Given the description of an element on the screen output the (x, y) to click on. 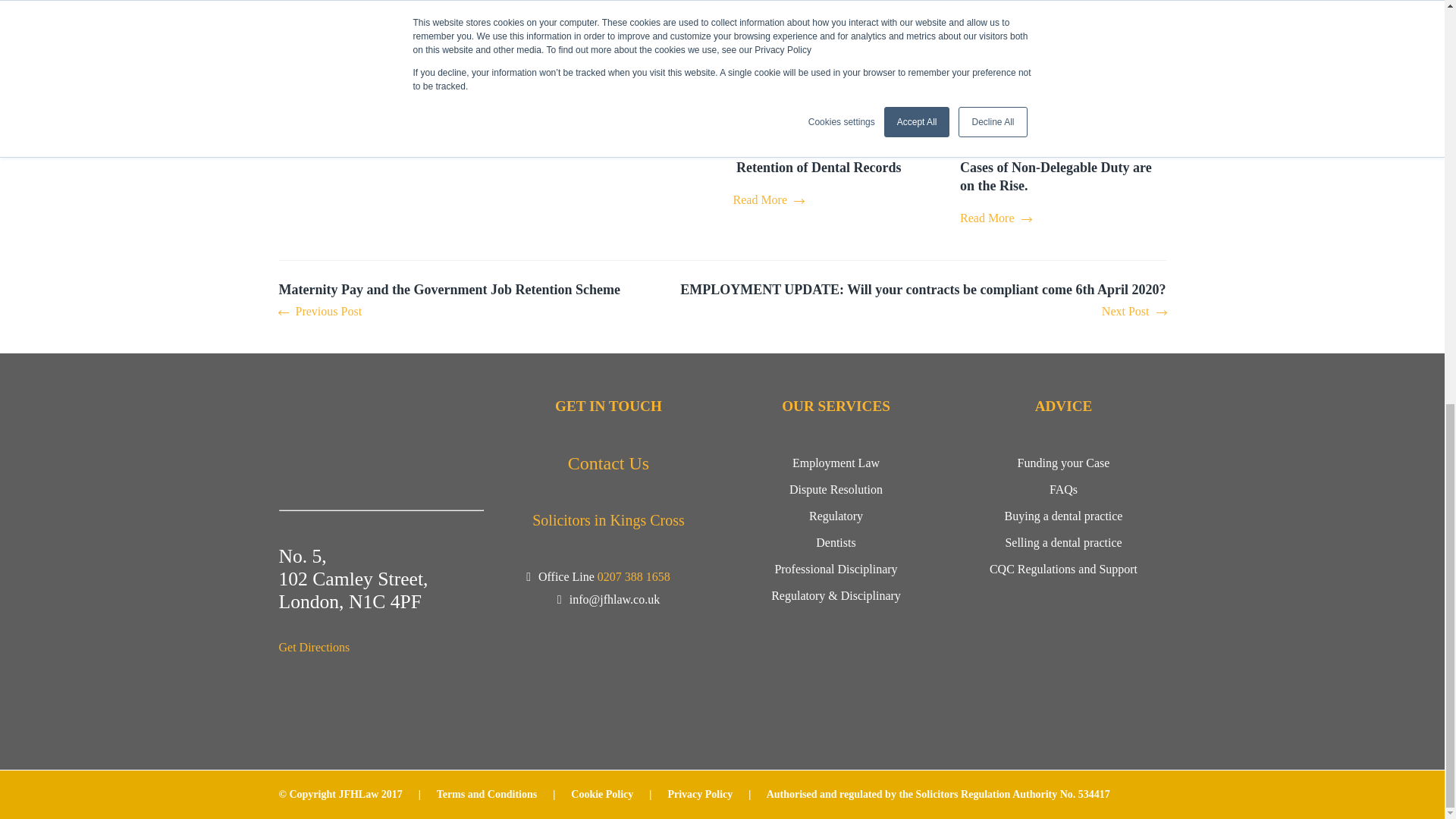
Maternity Pay and the Government Job Retention Scheme (449, 301)
SRA Badge (608, 694)
